Given the description of an element on the screen output the (x, y) to click on. 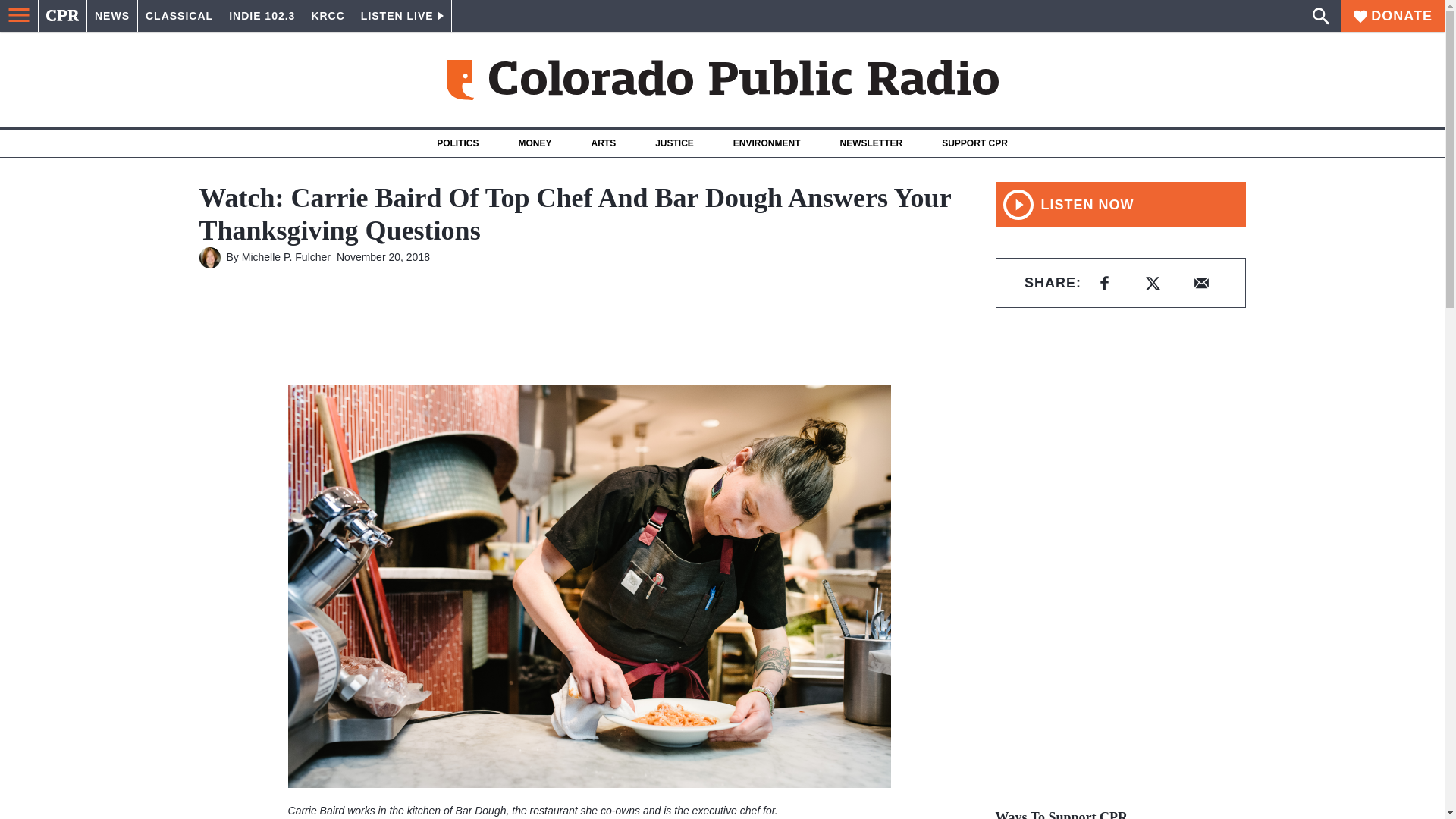
CLASSICAL (179, 15)
LISTEN LIVE (402, 15)
KRCC (327, 15)
INDIE 102.3 (261, 15)
NEWS (111, 15)
